Given the description of an element on the screen output the (x, y) to click on. 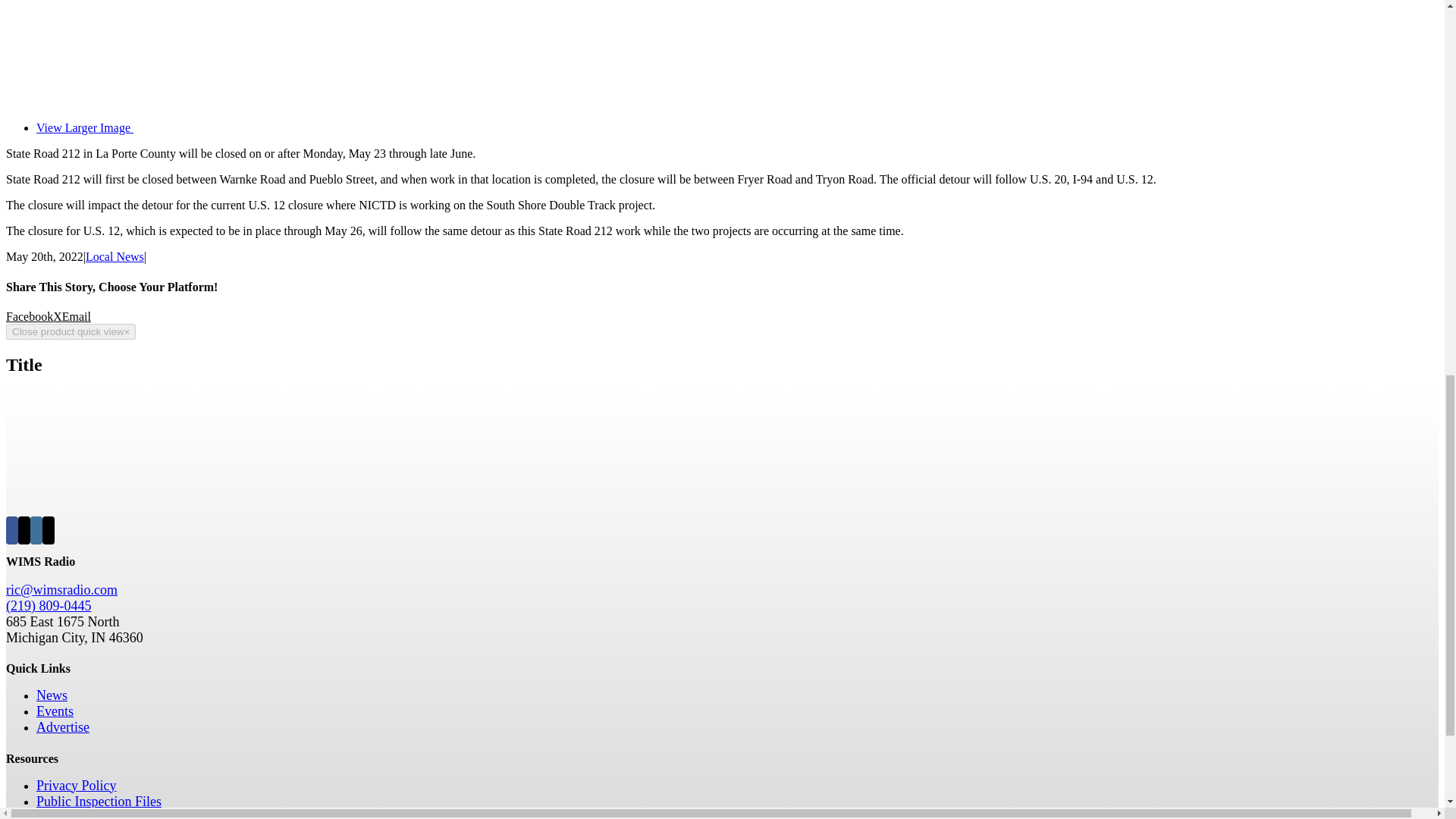
Events (55, 711)
Facebook (28, 316)
Email (76, 316)
News (51, 694)
Local News (114, 256)
Privacy Policy (76, 785)
Email (76, 316)
Facebook (28, 316)
Advertise (62, 726)
View Larger Image (312, 127)
